Given the description of an element on the screen output the (x, y) to click on. 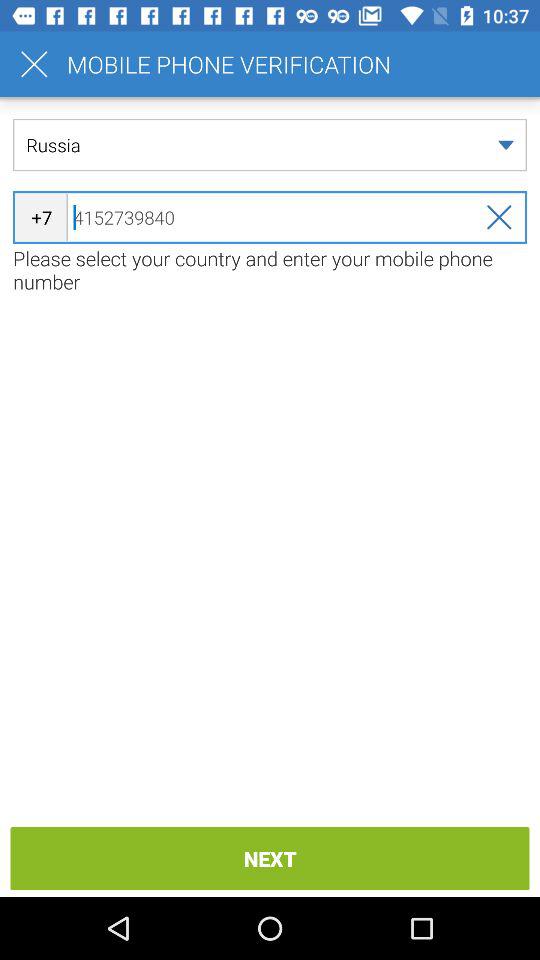
jump until next (269, 858)
